Given the description of an element on the screen output the (x, y) to click on. 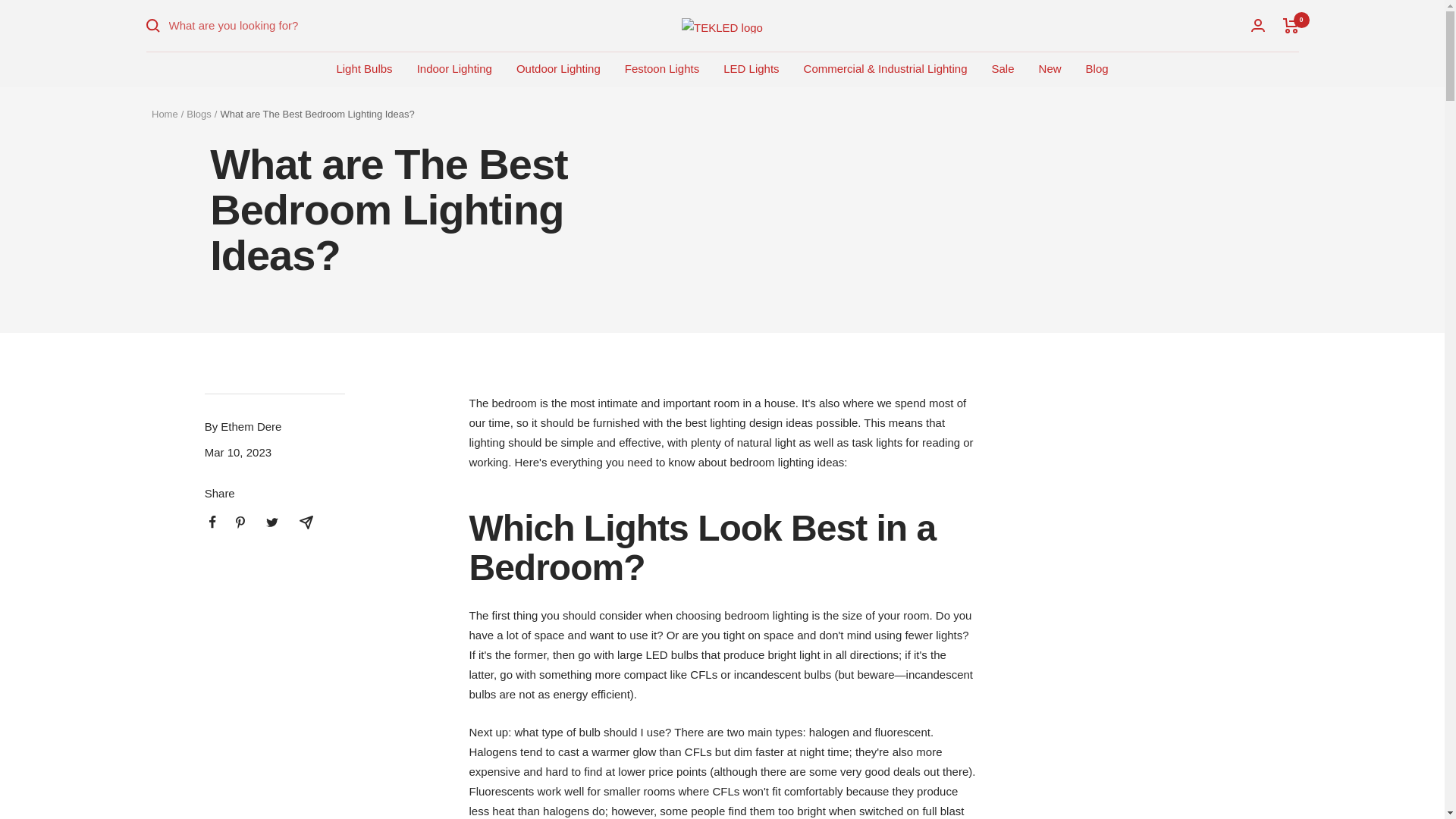
Home (164, 113)
TEKLED UK (721, 25)
Blogs (198, 113)
Sale (1002, 68)
Outdoor Lighting (557, 68)
Festoon Lights (661, 68)
Light Bulbs (363, 68)
LED Lights (750, 68)
New (1050, 68)
0 (1290, 25)
Indoor Lighting (454, 68)
Blog (1097, 68)
